Given the description of an element on the screen output the (x, y) to click on. 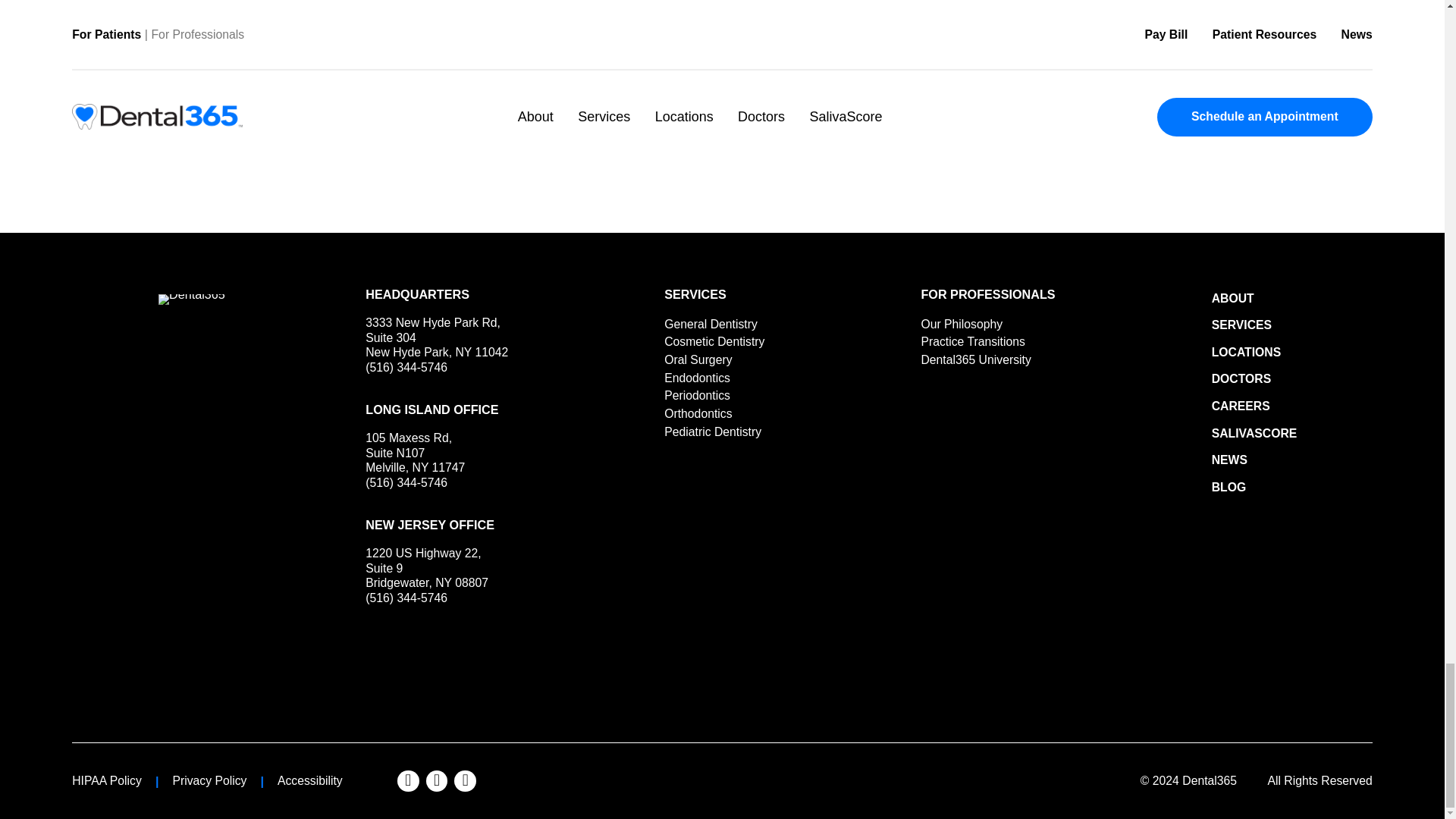
Send (418, 431)
